Given the description of an element on the screen output the (x, y) to click on. 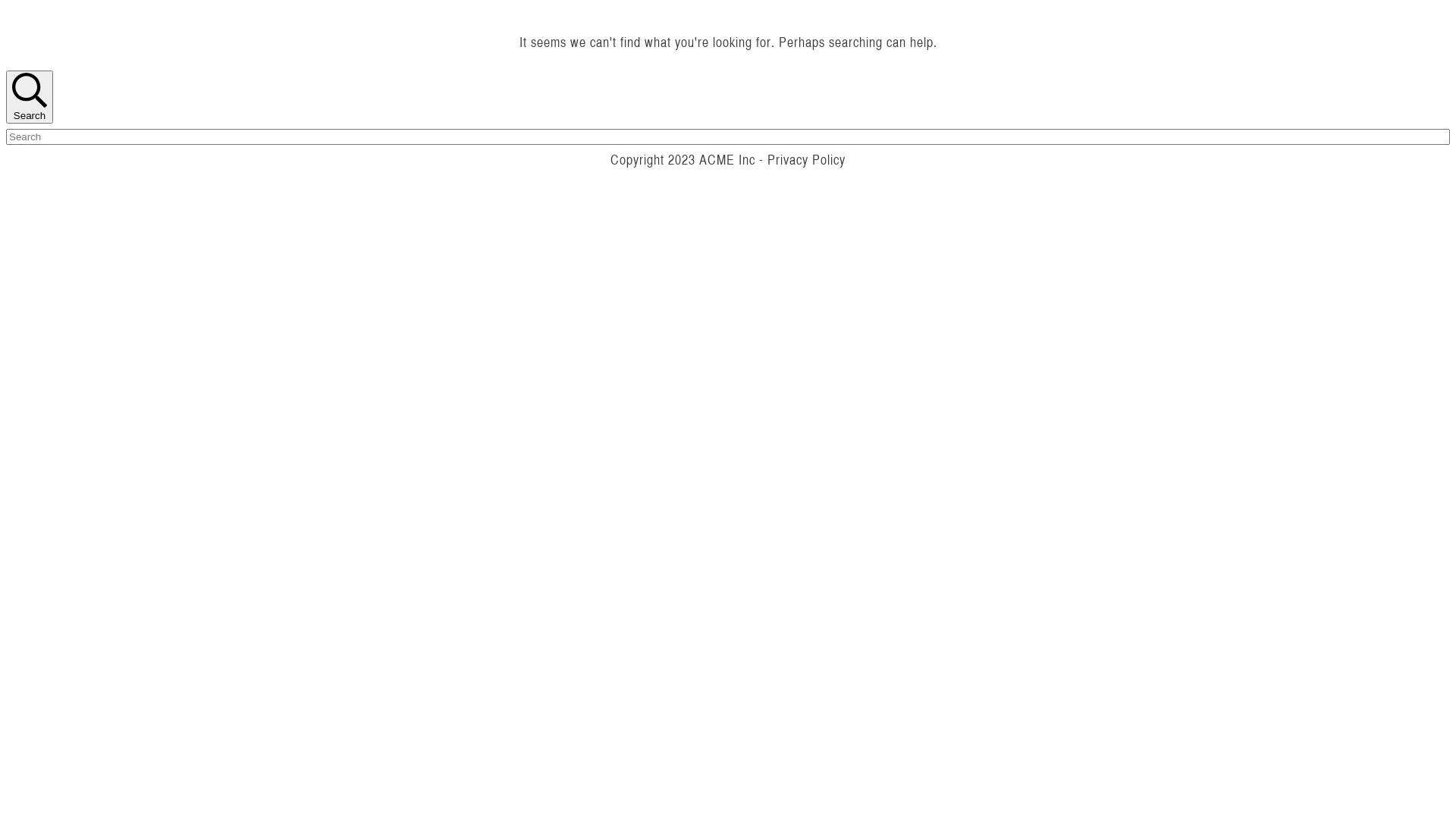
Privacy Policy Element type: text (806, 159)
Search Element type: text (29, 96)
